Given the description of an element on the screen output the (x, y) to click on. 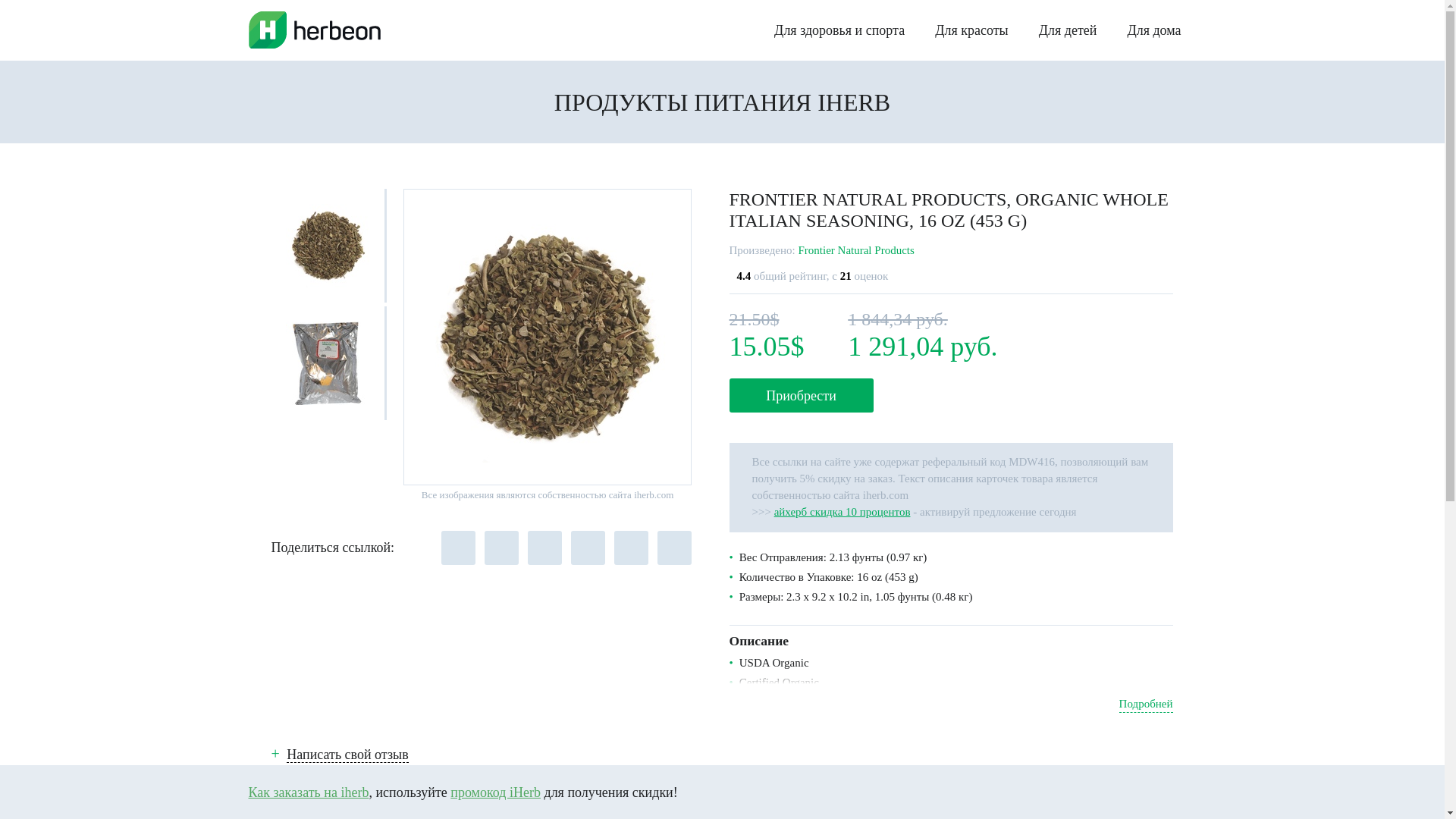
Frontier Natural Products (855, 250)
